Given the description of an element on the screen output the (x, y) to click on. 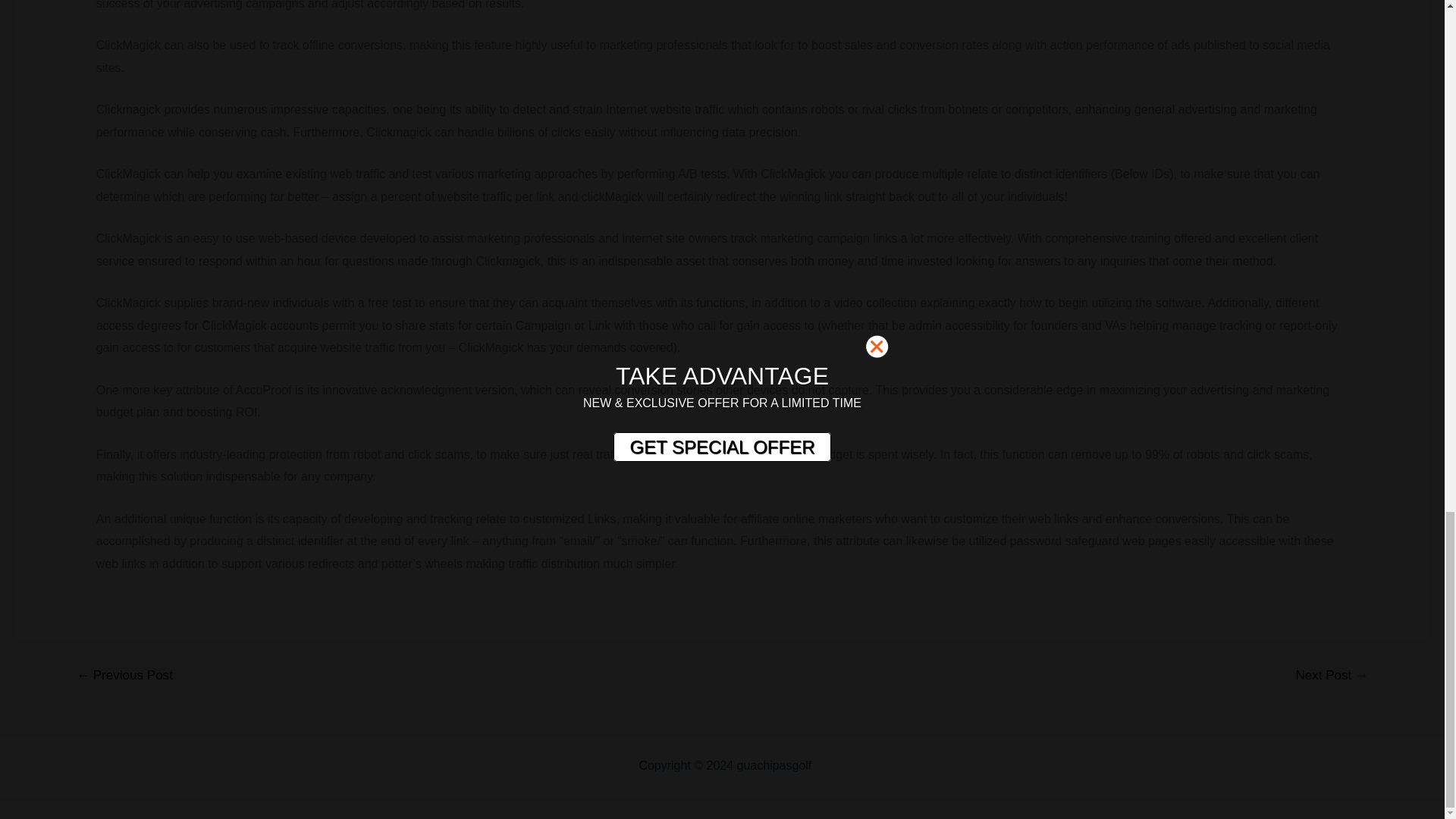
Sitemap (837, 765)
